Given the description of an element on the screen output the (x, y) to click on. 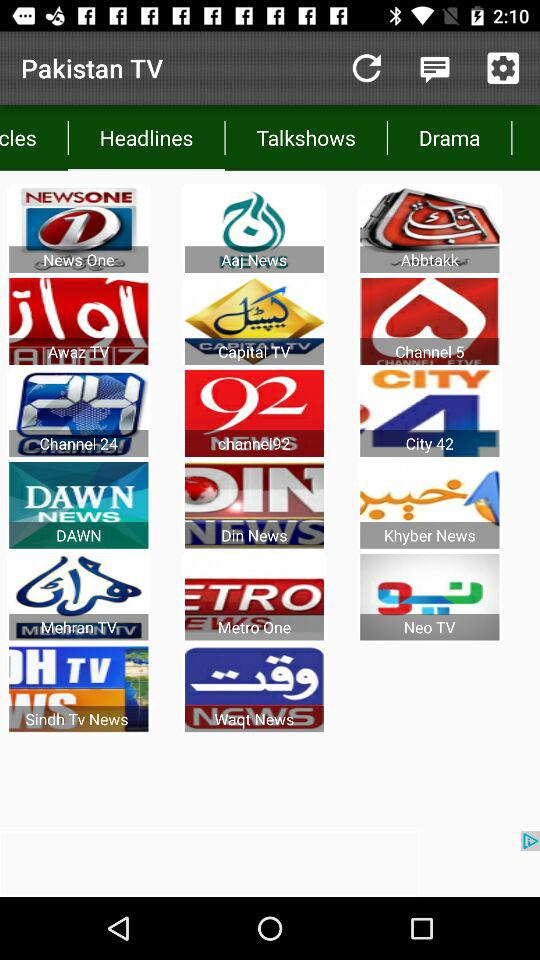
open app below the pakistan tv (146, 137)
